Given the description of an element on the screen output the (x, y) to click on. 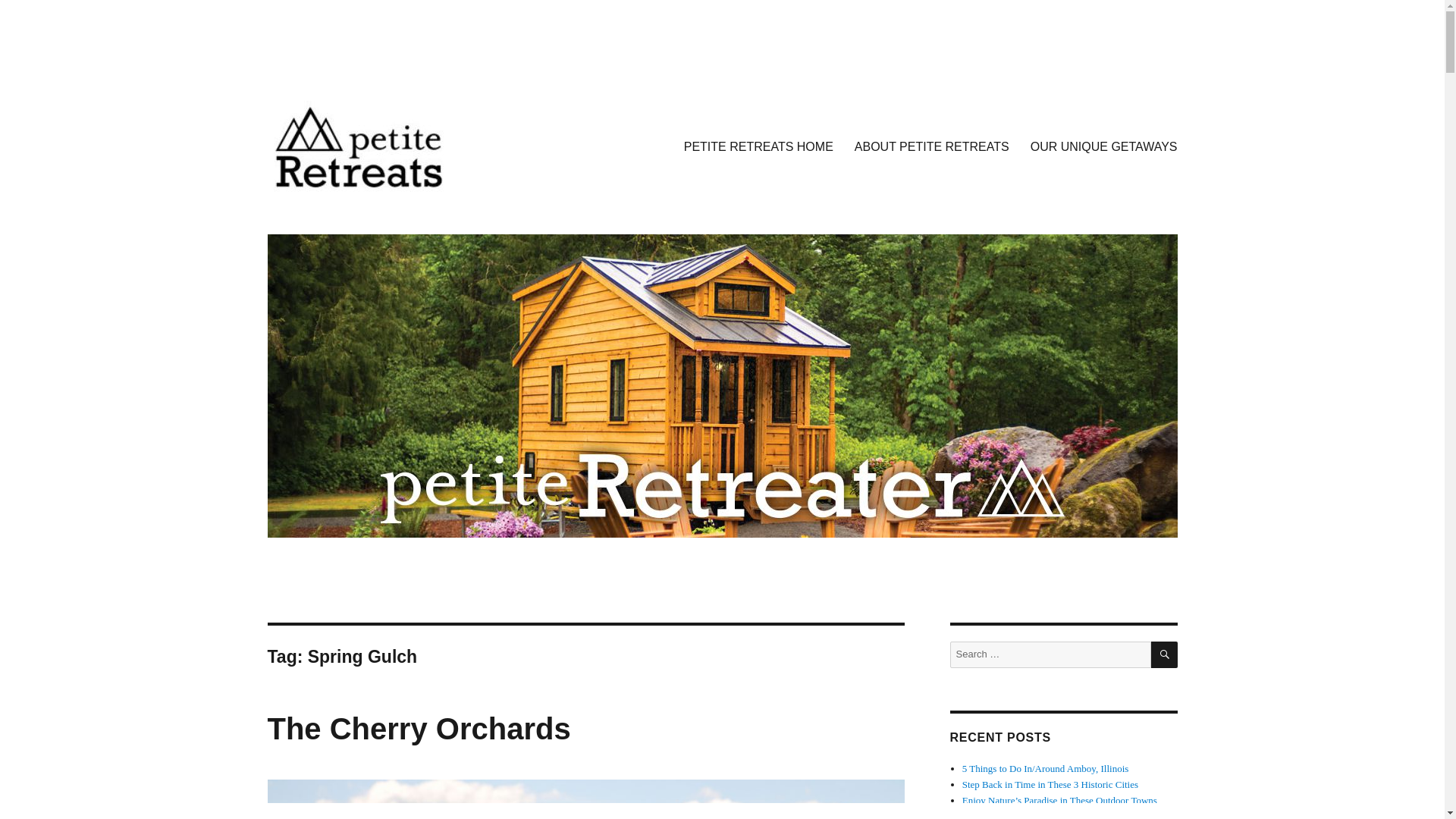
The Cherry Orchards (418, 728)
PETITE RETREATS HOME (758, 146)
Petite Retreater (344, 215)
ABOUT PETITE RETREATS (932, 146)
OUR UNIQUE GETAWAYS (1104, 146)
